Given the description of an element on the screen output the (x, y) to click on. 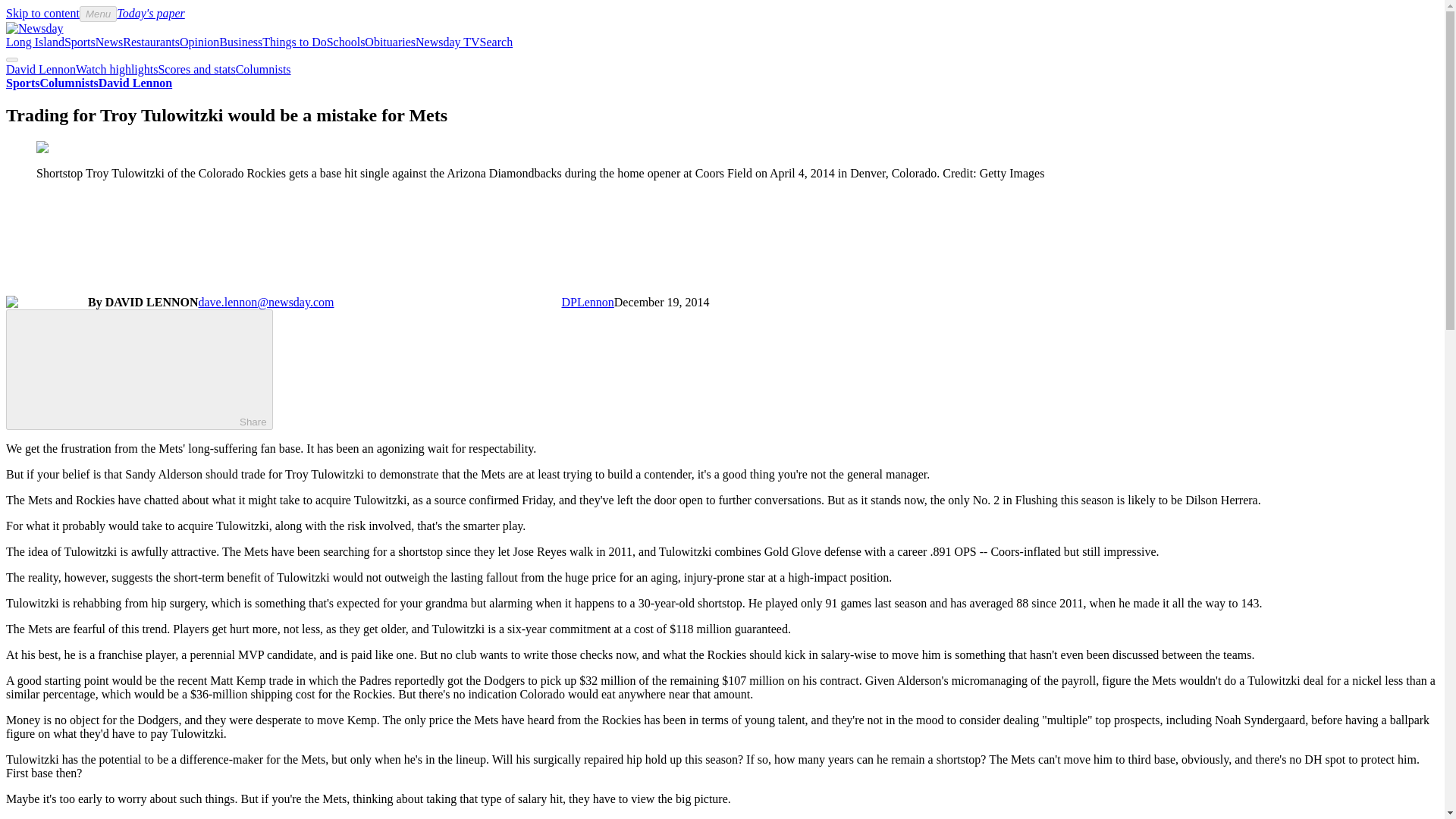
Restaurants (150, 42)
Today's paper (150, 12)
News (109, 42)
Skip to content (42, 12)
David Lennon (40, 69)
Menu (98, 13)
Opinion (199, 42)
Sports (22, 82)
Columnists (68, 82)
David Lennon (135, 82)
Schools (345, 42)
Columnists (263, 69)
Sports (80, 42)
Scores and stats (195, 69)
Things to Do (294, 42)
